Given the description of an element on the screen output the (x, y) to click on. 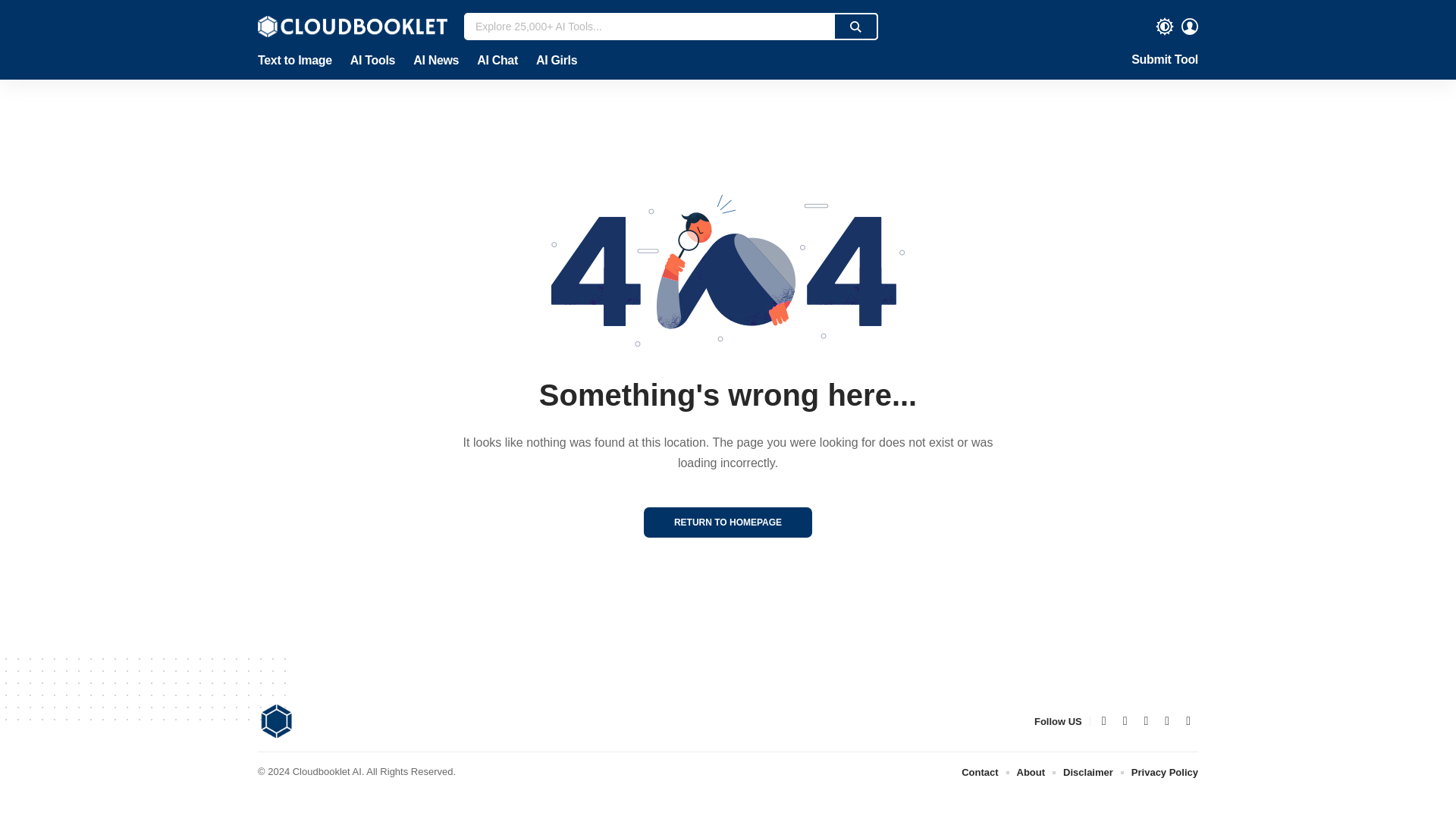
Submit Tool (1164, 60)
Text to Image (298, 60)
AI Girls (551, 60)
AI News (435, 60)
AI Tools (372, 60)
AI Chat (497, 60)
Cloudbooklet AI (276, 720)
RETURN TO HOMEPAGE (727, 521)
Cloudbooklet AI (351, 25)
